Given the description of an element on the screen output the (x, y) to click on. 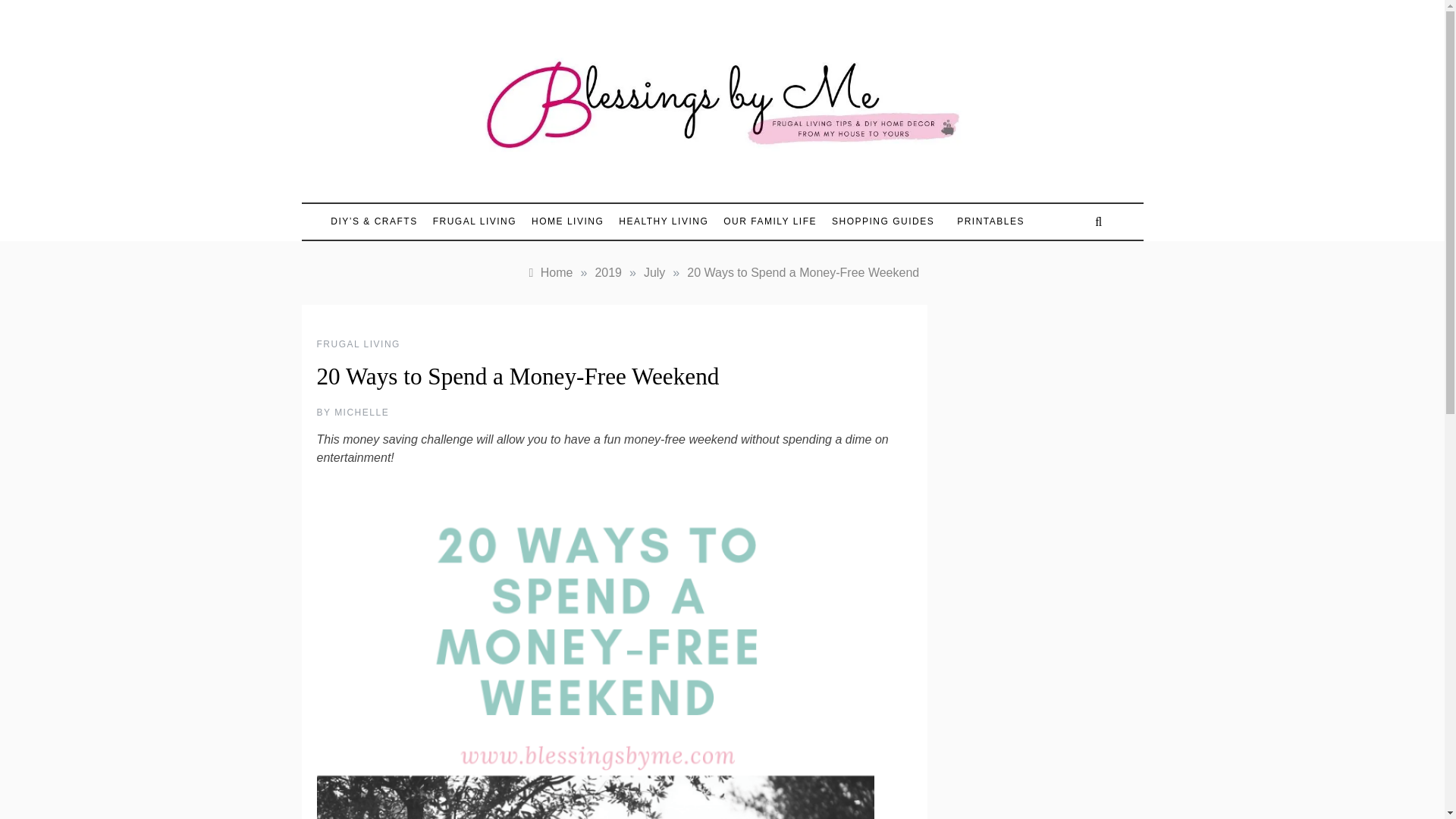
OUR FAMILY LIFE (770, 221)
HEALTHY LIVING (663, 221)
FRUGAL LIVING (474, 221)
2019 (607, 272)
HOME LIVING (567, 221)
MICHELLE (361, 412)
Blessings by Me (577, 187)
July (654, 272)
PRINTABLES (983, 221)
Home (549, 272)
